Given the description of an element on the screen output the (x, y) to click on. 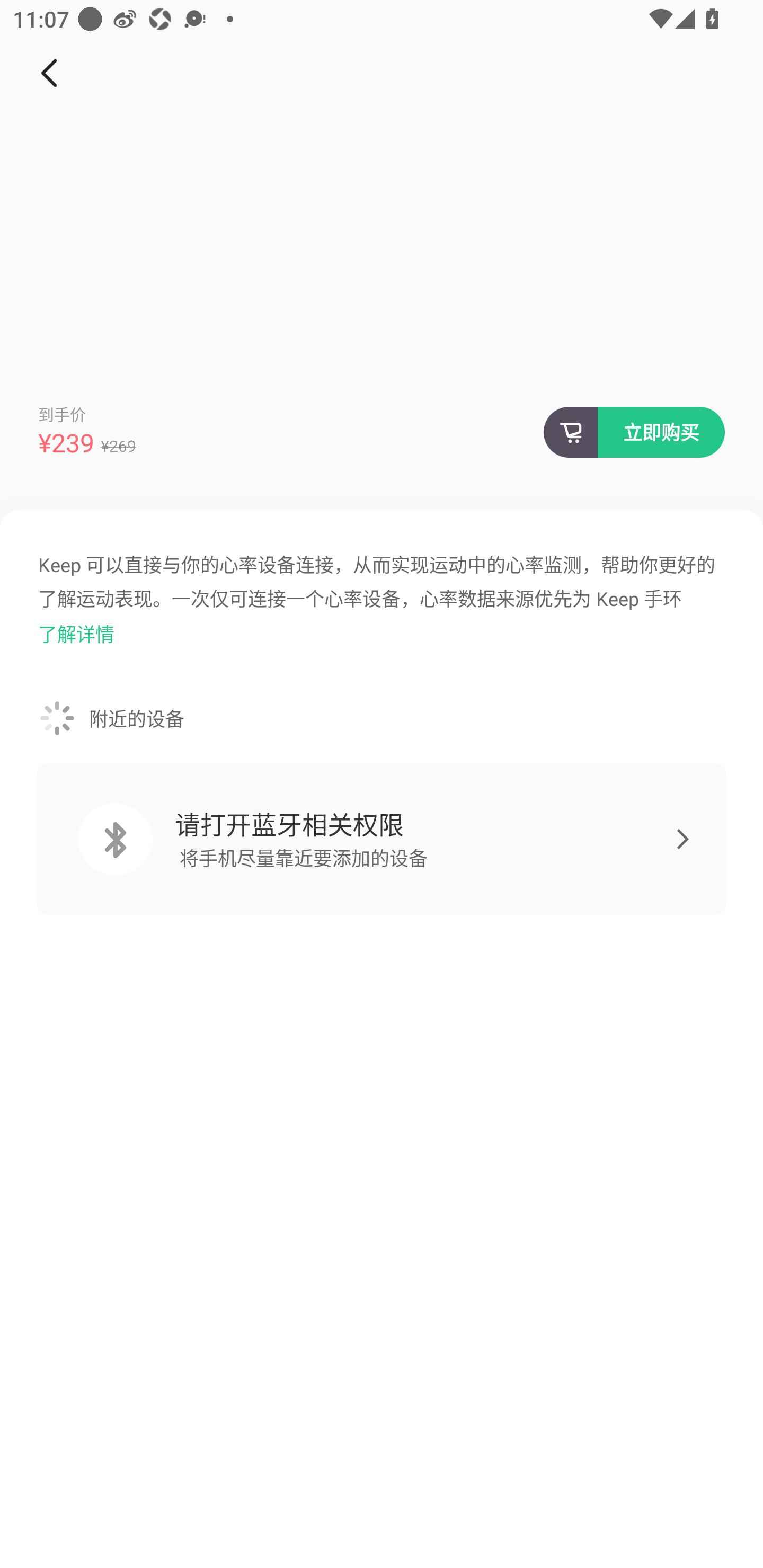
了解详情 (76, 633)
请打开蓝牙相关权限 将手机尽量靠近要添加的设备 (381, 838)
